Given the description of an element on the screen output the (x, y) to click on. 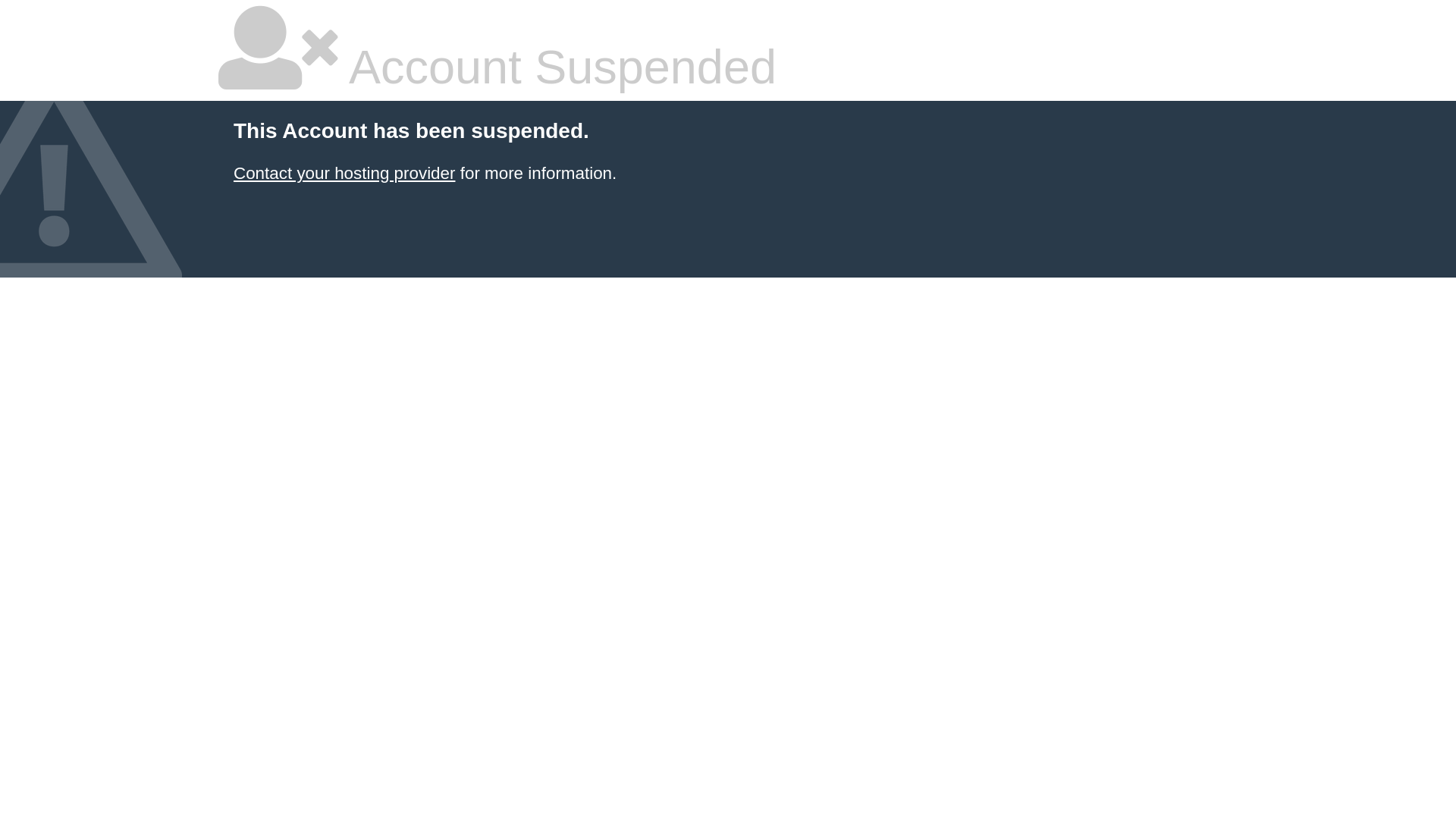
Contact your hosting provider Element type: text (344, 172)
